Given the description of an element on the screen output the (x, y) to click on. 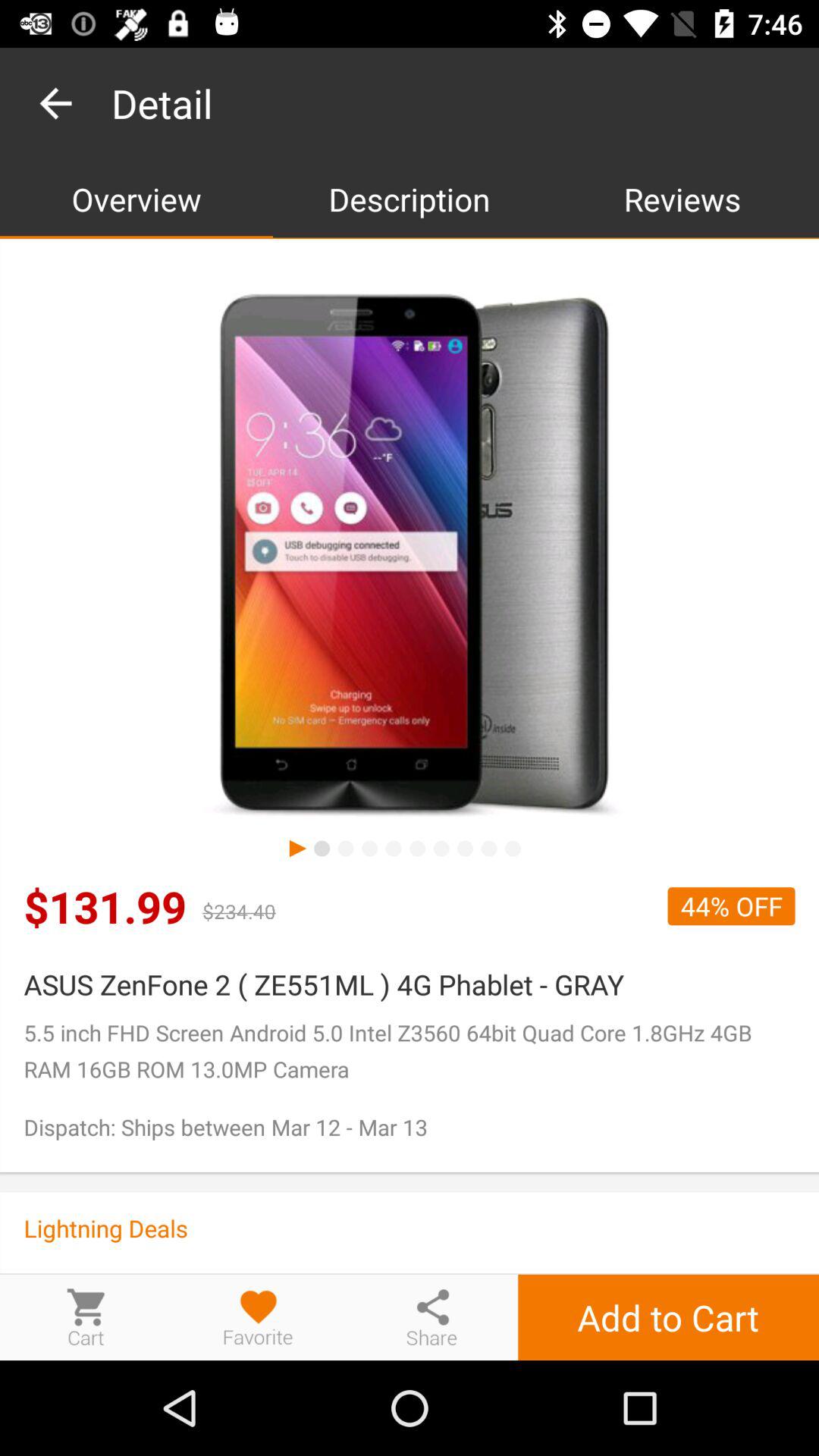
share this product (431, 1317)
